Given the description of an element on the screen output the (x, y) to click on. 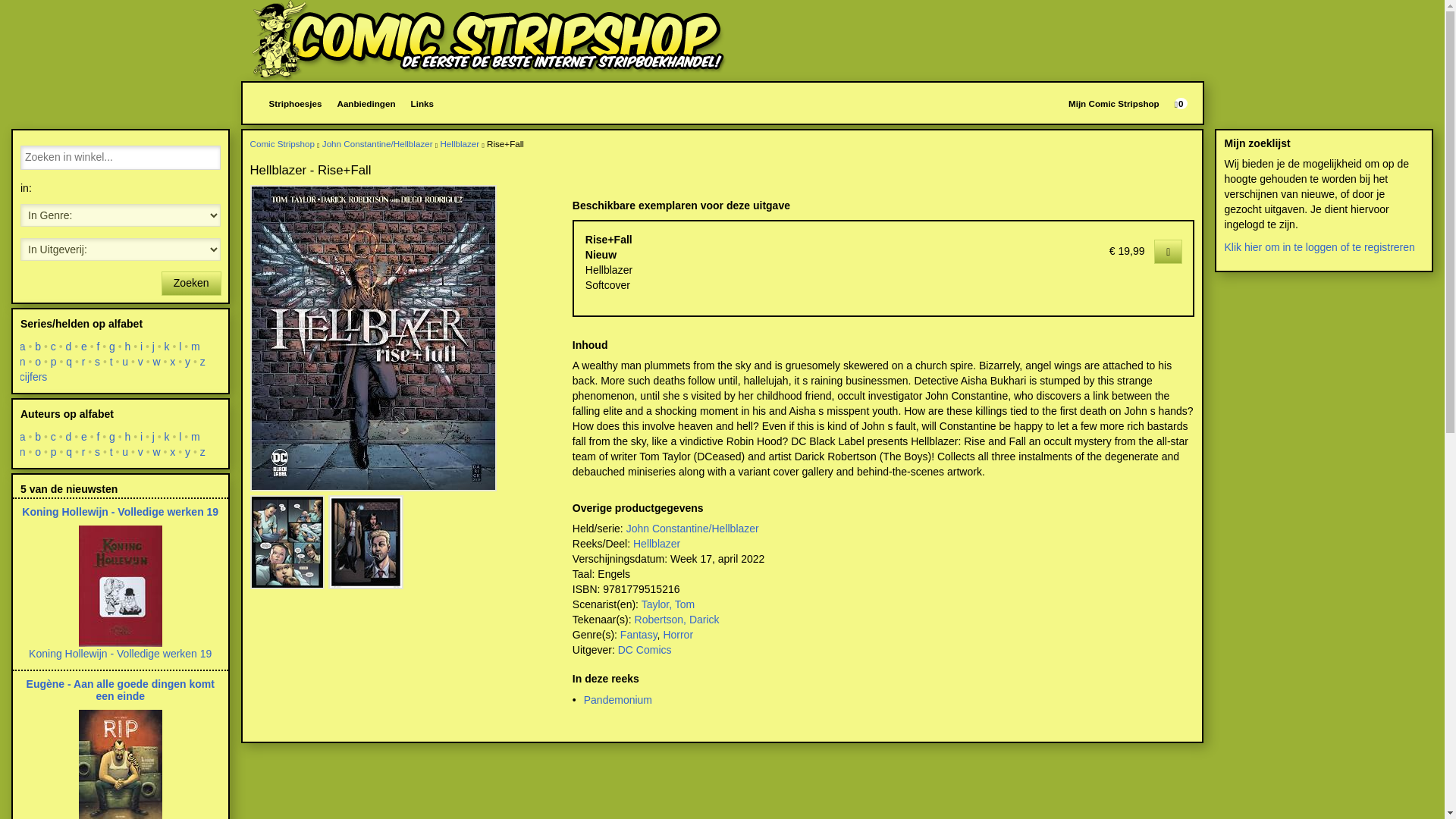
Horror (677, 634)
Comic Stripshop (282, 143)
Fantasy (639, 634)
Hellblazer (656, 543)
DC Comics (644, 649)
Taylor, Tom (668, 604)
Mijn Comic Stripshop (1114, 103)
Comic Stripshop (488, 40)
Klik hier om in te loggen of te registreren (1318, 246)
Links (422, 103)
